Given the description of an element on the screen output the (x, y) to click on. 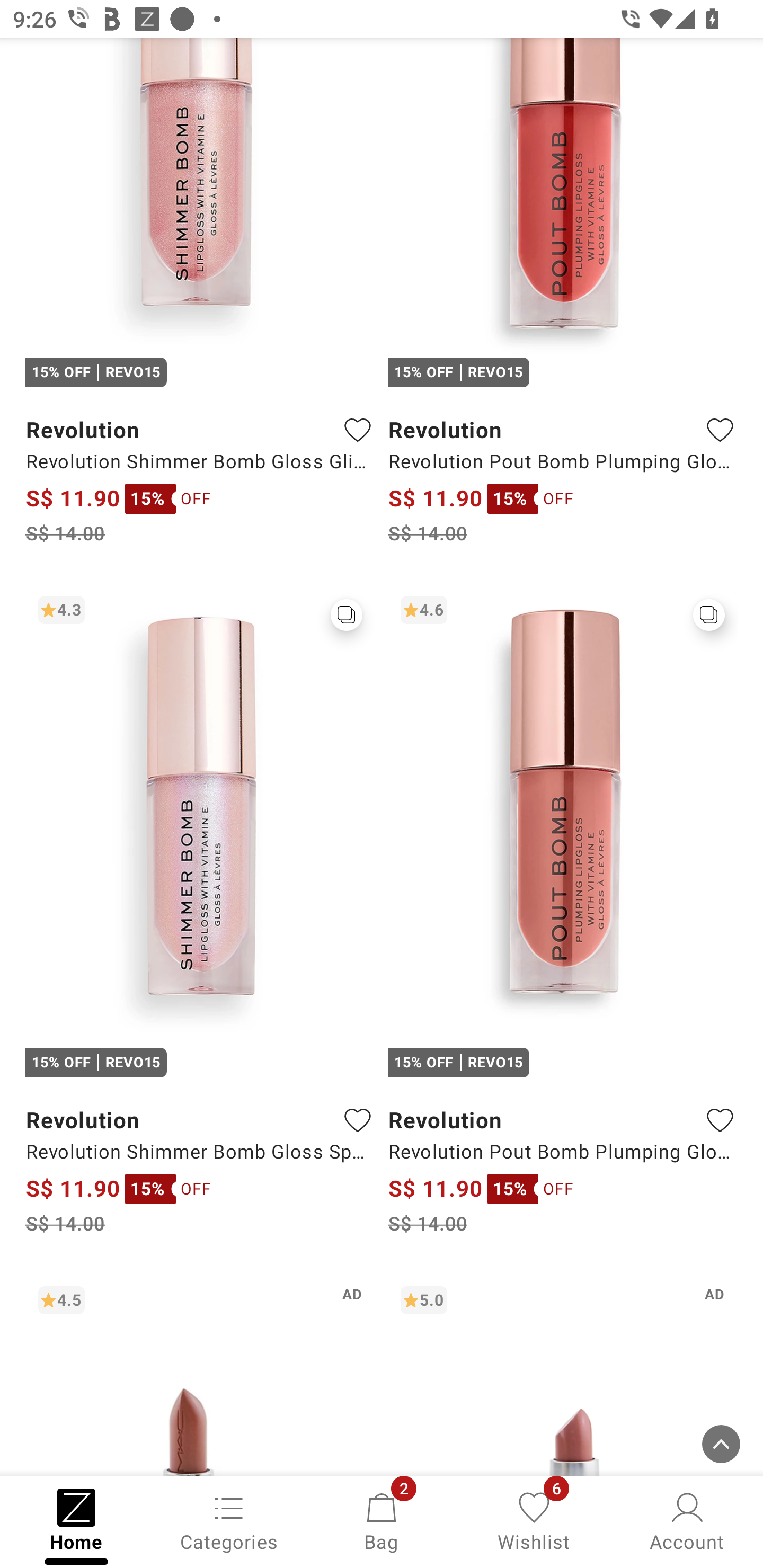
Categories (228, 1519)
Bag, 2 new notifications Bag (381, 1519)
Wishlist, 6 new notifications Wishlist (533, 1519)
Account (686, 1519)
